Given the description of an element on the screen output the (x, y) to click on. 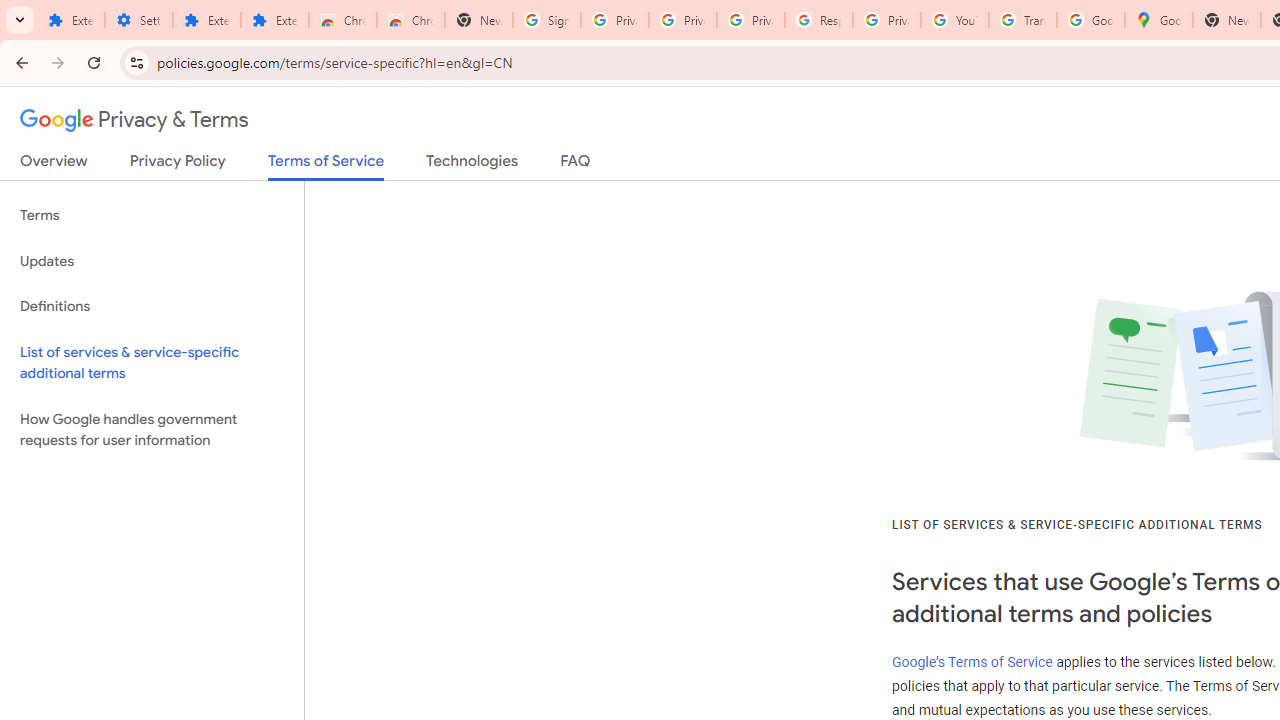
Extensions (274, 20)
